Given the description of an element on the screen output the (x, y) to click on. 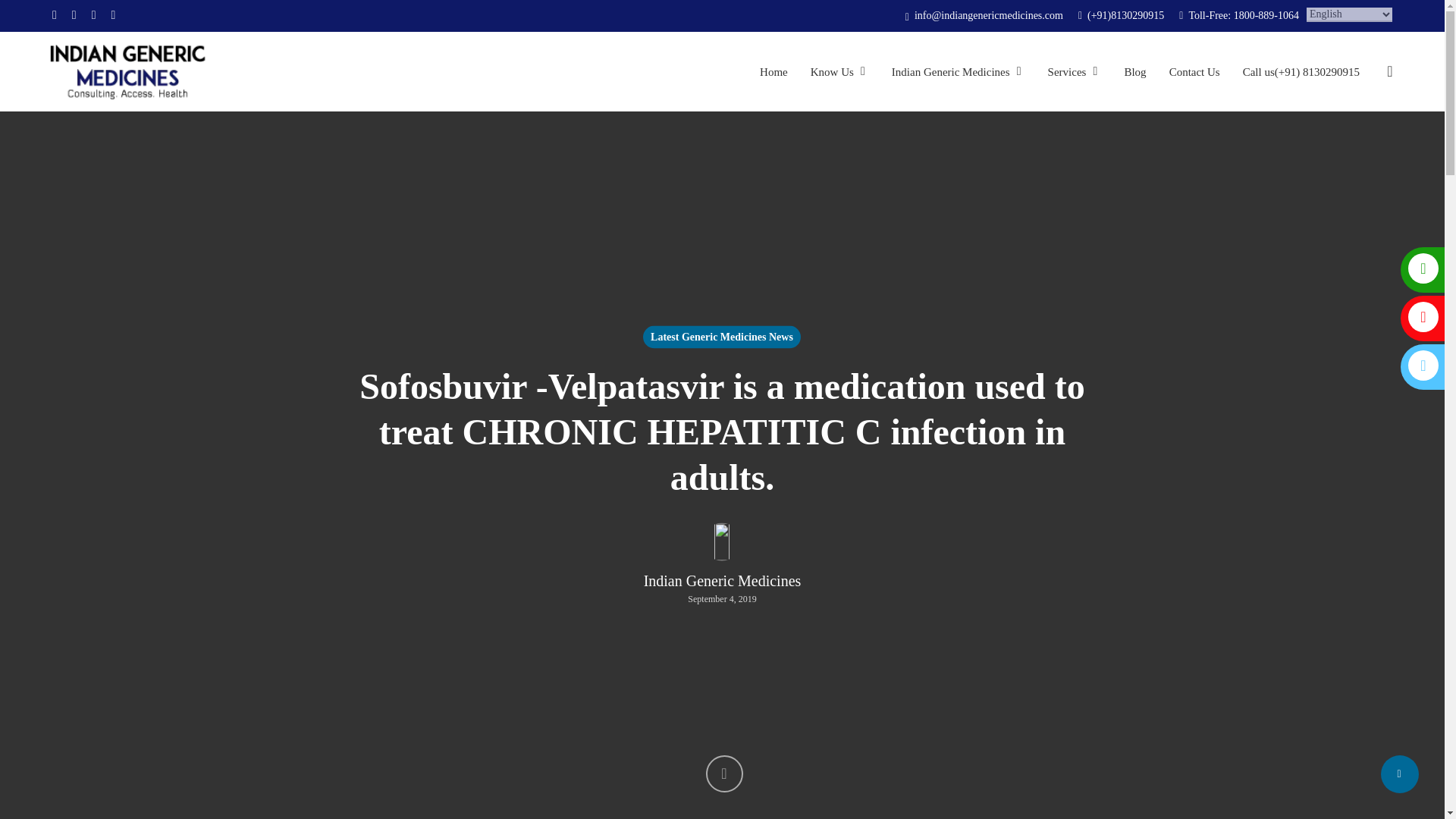
Indian Generic Medicines (958, 70)
Posts by Indian Generic Medicines (722, 580)
youtube (93, 15)
twitter (54, 15)
Toll-Free: 1800-889-1064 (1238, 15)
Home (773, 70)
facebook (74, 15)
Know Us (839, 70)
instagram (114, 15)
